Given the description of an element on the screen output the (x, y) to click on. 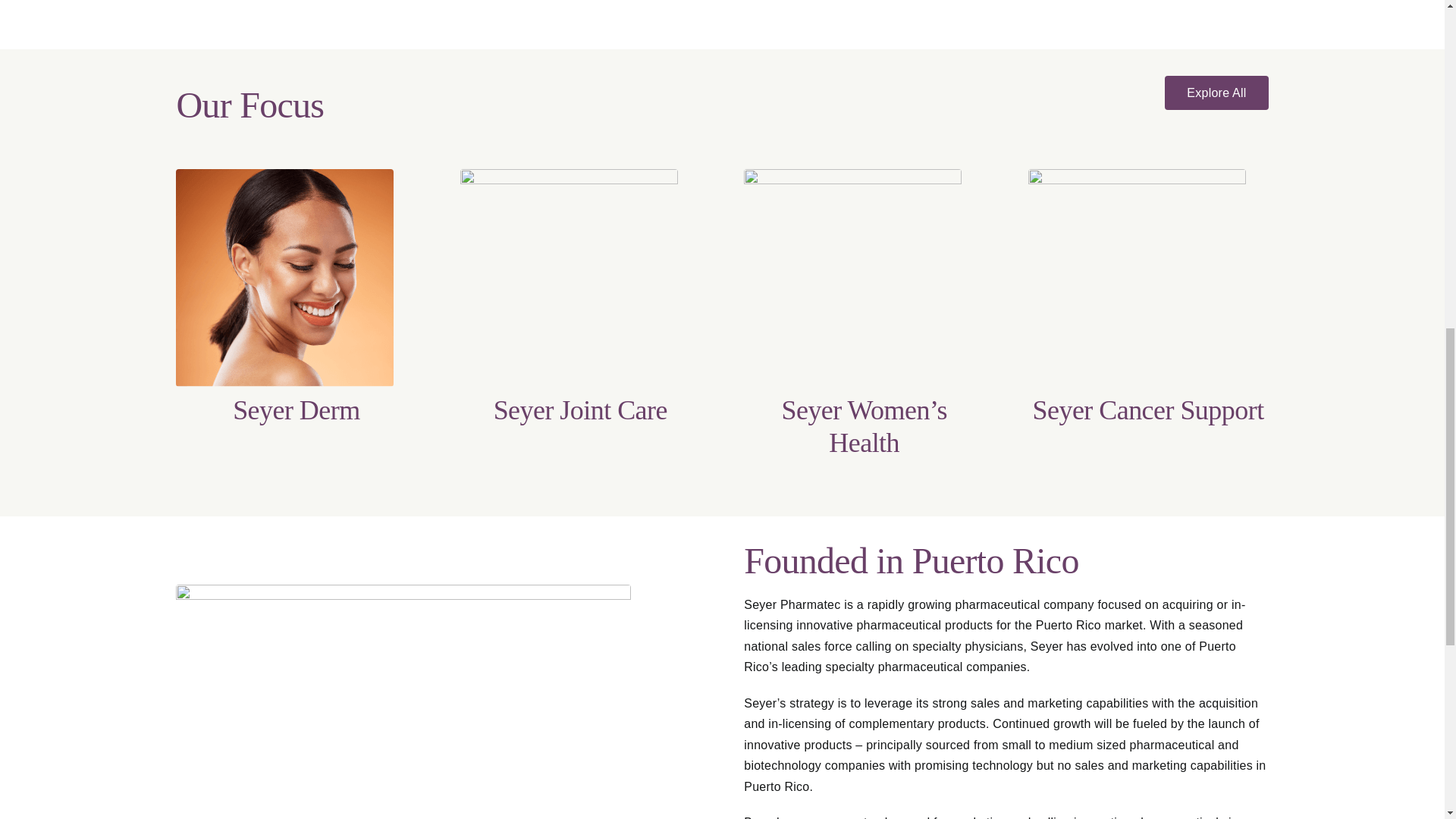
seyer-derm (284, 277)
Seyer-puerto-rico (403, 701)
Seyer-Joint-Care- (569, 277)
Explore All (1216, 92)
Seyer-Womens-Health- (852, 277)
Seyer-Cancer-Support- (1136, 277)
